Given the description of an element on the screen output the (x, y) to click on. 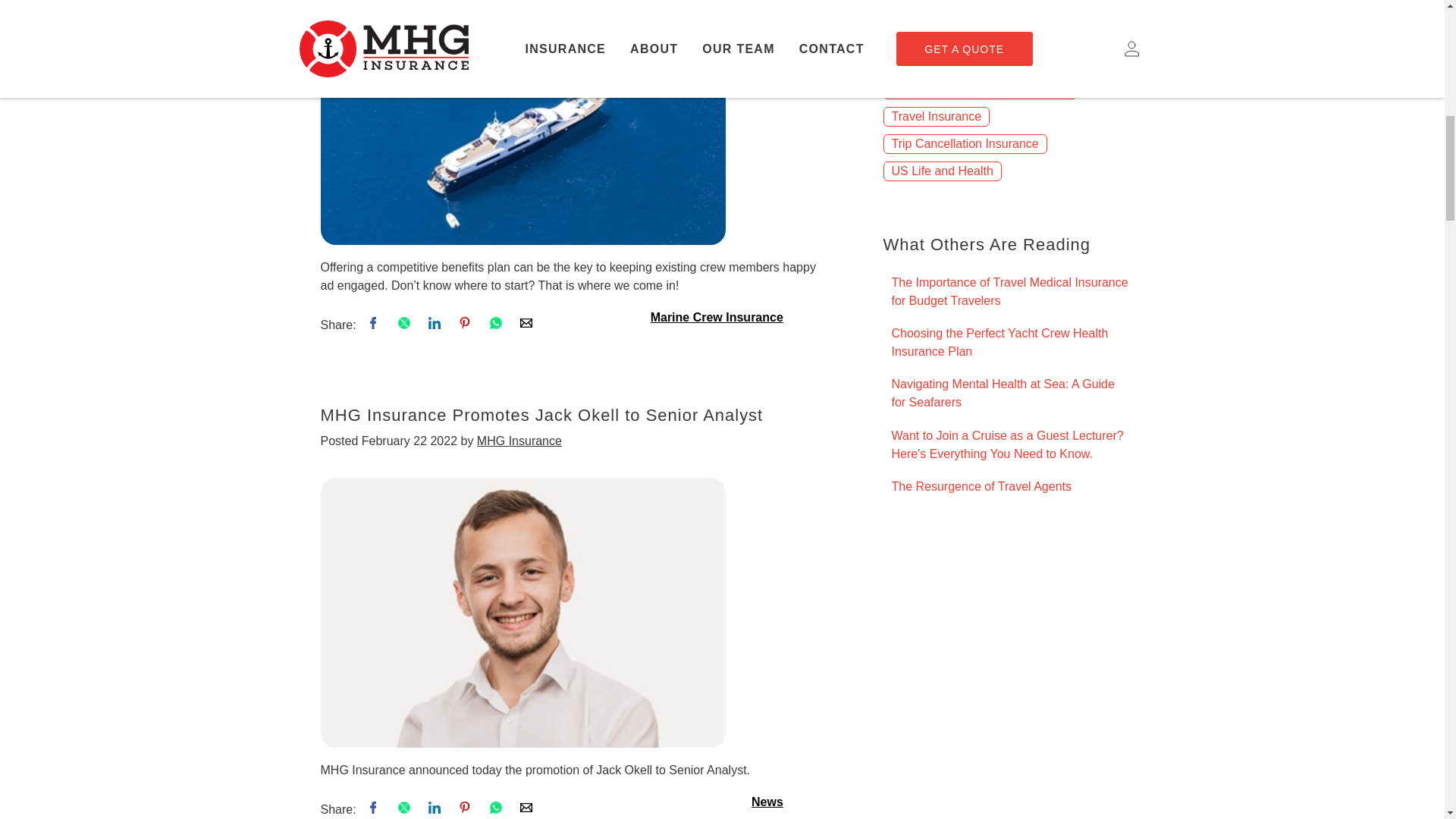
Follow me on WhatsApp (496, 324)
follow me on Twitter (405, 324)
follow me on Facebook (374, 809)
Follow me on LinkedIn (435, 324)
How to Choose the Right Yacht Crew Benefits Plan? (522, 122)
follow me on Twitter (405, 809)
MHG Insurance Promotes Jack Okell to Senior Analyst (522, 611)
Follow me on Pinterest (466, 324)
MHG Insurance Promotes Jack Okell to Senior Analyst (522, 612)
follow me on Facebook (374, 324)
Follow me on LinkedIn (435, 809)
Send email (526, 324)
